Given the description of an element on the screen output the (x, y) to click on. 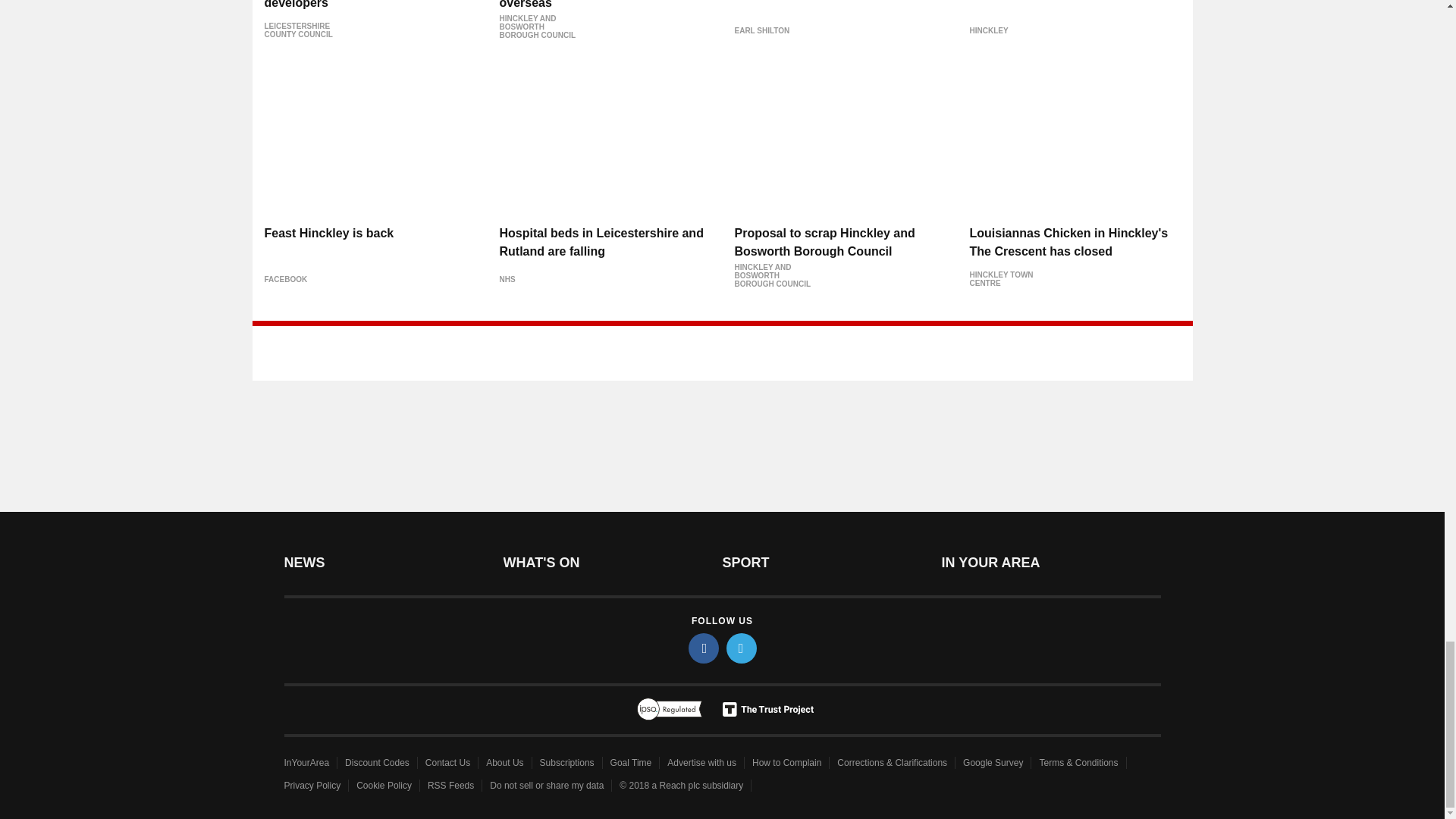
twitter (741, 648)
facebook (703, 648)
